Given the description of an element on the screen output the (x, y) to click on. 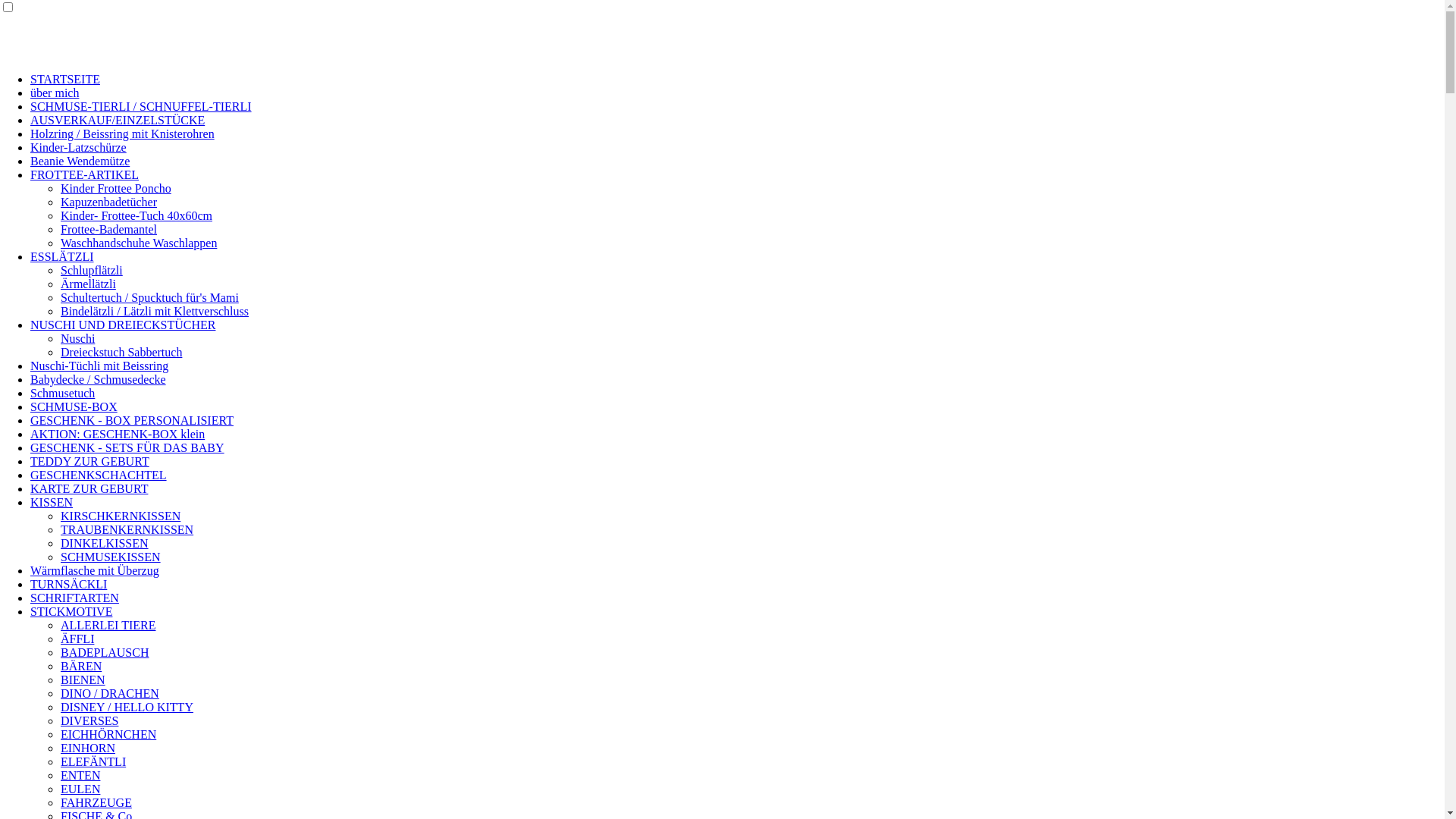
GESCHENK - BOX PERSONALISIERT Element type: text (131, 420)
ENTEN Element type: text (80, 774)
KARTE ZUR GEBURT Element type: text (88, 488)
TEDDY ZUR GEBURT Element type: text (89, 461)
Holzring / Beissring mit Knisterohren Element type: text (122, 133)
STARTSEITE Element type: text (65, 78)
DINKELKISSEN Element type: text (104, 542)
FAHRZEUGE Element type: text (95, 802)
DIVERSES Element type: text (89, 720)
GESCHENKSCHACHTEL Element type: text (98, 474)
DISNEY / HELLO KITTY Element type: text (126, 706)
Schmusetuch Element type: text (62, 392)
Dreieckstuch Sabbertuch Element type: text (121, 351)
STICKMOTIVE Element type: text (71, 611)
Waschhandschuhe Waschlappen Element type: text (138, 242)
Kinder Frottee Poncho Element type: text (115, 188)
EULEN Element type: text (80, 788)
ALLERLEI TIERE Element type: text (107, 624)
SCHMUSEKISSEN Element type: text (110, 556)
BIENEN Element type: text (82, 679)
SCHMUSE-BOX Element type: text (73, 406)
AKTION: GESCHENK-BOX klein Element type: text (117, 433)
KISSEN Element type: text (51, 501)
EINHORN Element type: text (87, 747)
SCHMUSE-TIERLI / SCHNUFFEL-TIERLI Element type: text (140, 106)
Kinder- Frottee-Tuch 40x60cm Element type: text (136, 215)
BADEPLAUSCH Element type: text (104, 652)
TRAUBENKERNKISSEN Element type: text (126, 529)
KIRSCHKERNKISSEN Element type: text (120, 515)
Nuschi Element type: text (77, 338)
SCHRIFTARTEN Element type: text (74, 597)
FROTTEE-ARTIKEL Element type: text (84, 174)
Frottee-Bademantel Element type: text (108, 228)
DINO / DRACHEN Element type: text (109, 693)
Babydecke / Schmusedecke Element type: text (98, 379)
